Given the description of an element on the screen output the (x, y) to click on. 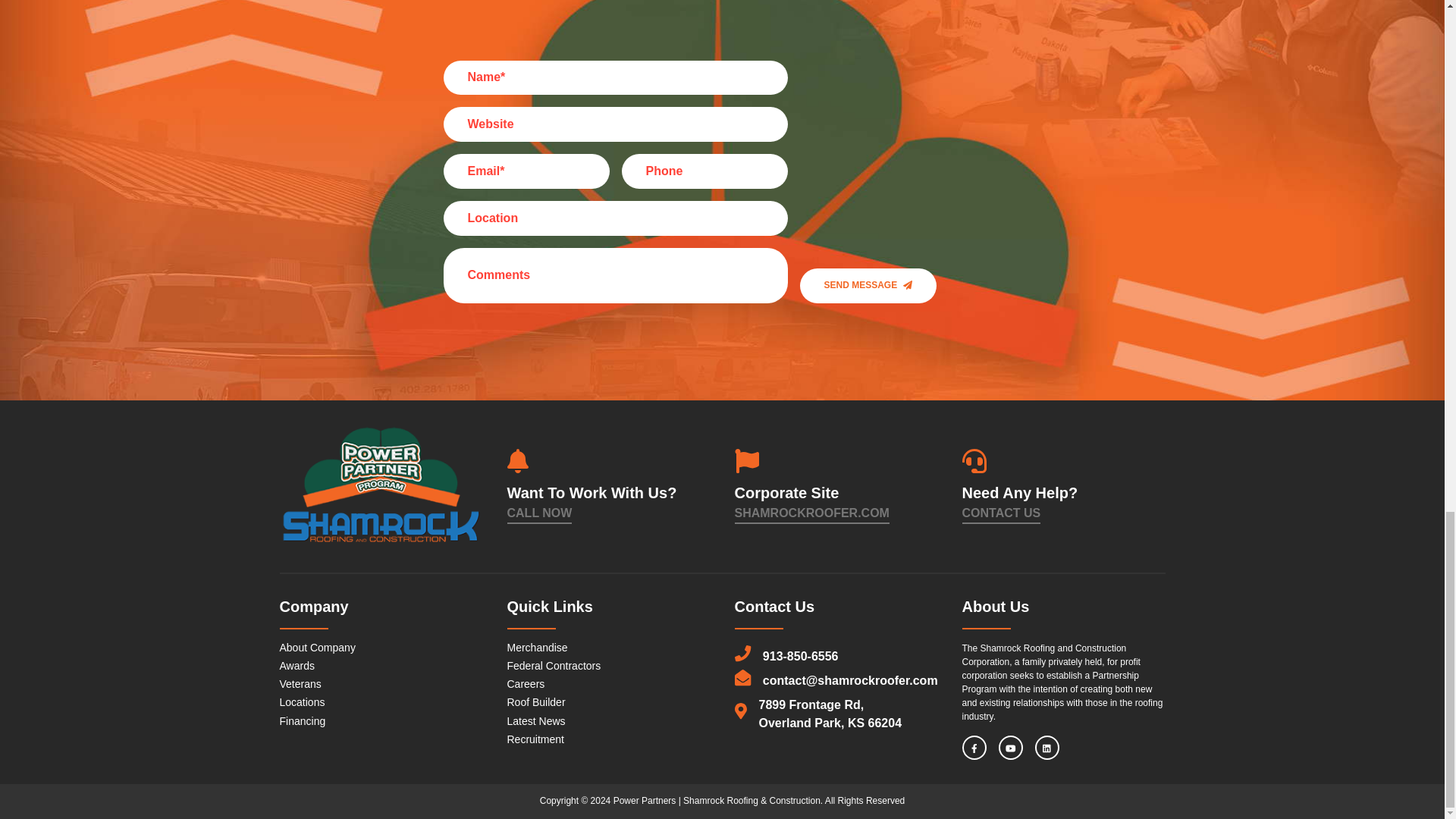
Veterans (299, 684)
Financing (301, 720)
Roof Builder (535, 702)
About Company (317, 647)
SEND MESSAGE (867, 285)
Careers (525, 684)
Federal Contractors (552, 665)
Awards (296, 665)
CONTACT US (1000, 512)
SHAMROCKROOFER.COM (810, 512)
